Given the description of an element on the screen output the (x, y) to click on. 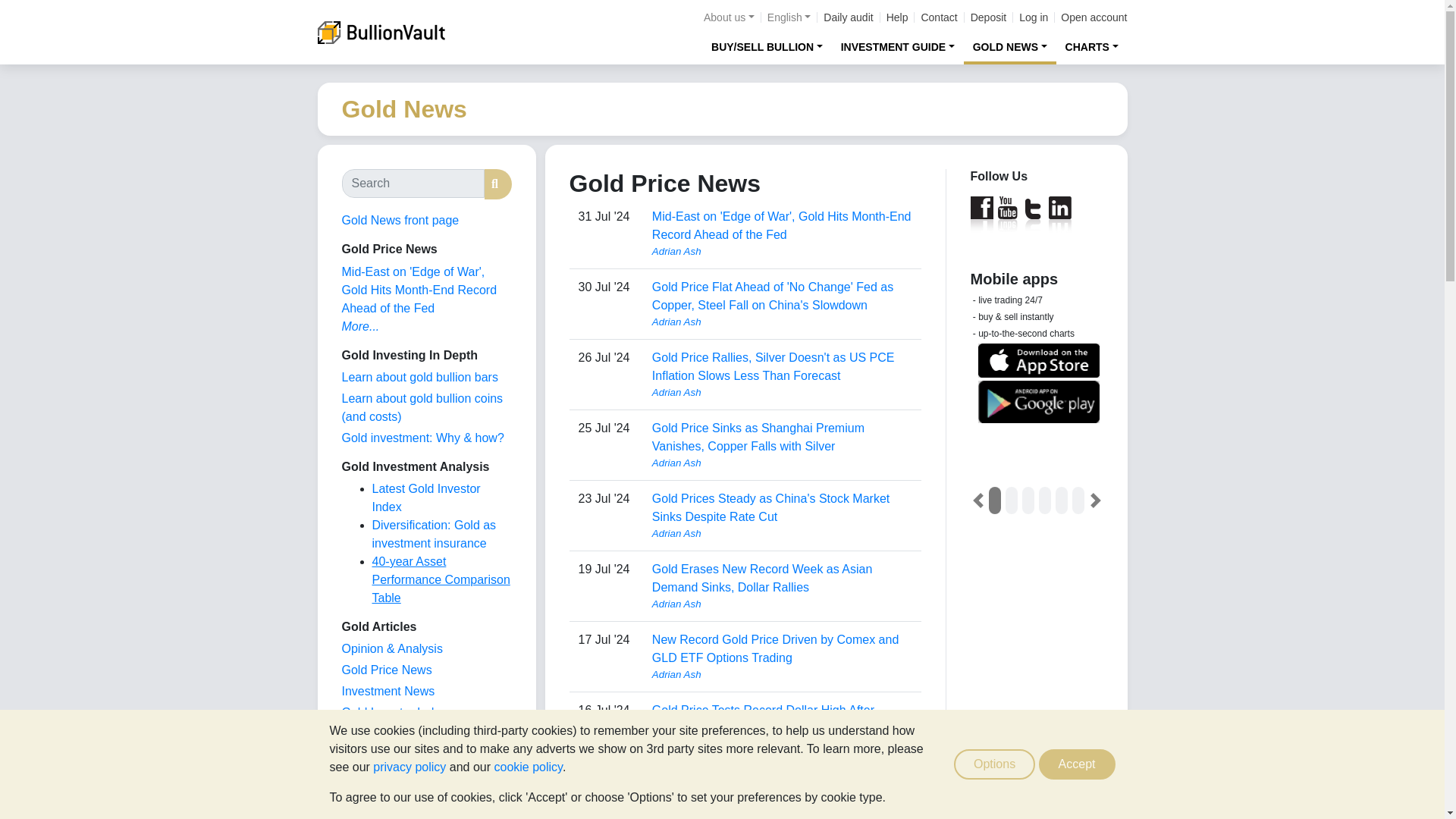
View user profile. (782, 392)
Books about Gold Reviewed (372, 797)
Gold Infographics (387, 733)
View user profile. (782, 604)
Daily audit (848, 17)
Enter the terms you wish to search for. (411, 183)
Gold Price News (385, 669)
Market Fundamentals (399, 754)
Deposit (988, 17)
English (788, 17)
About us (728, 17)
INVESTMENT GUIDE (897, 46)
Options (994, 764)
Gold in History (380, 775)
cookie policy (528, 766)
